Given the description of an element on the screen output the (x, y) to click on. 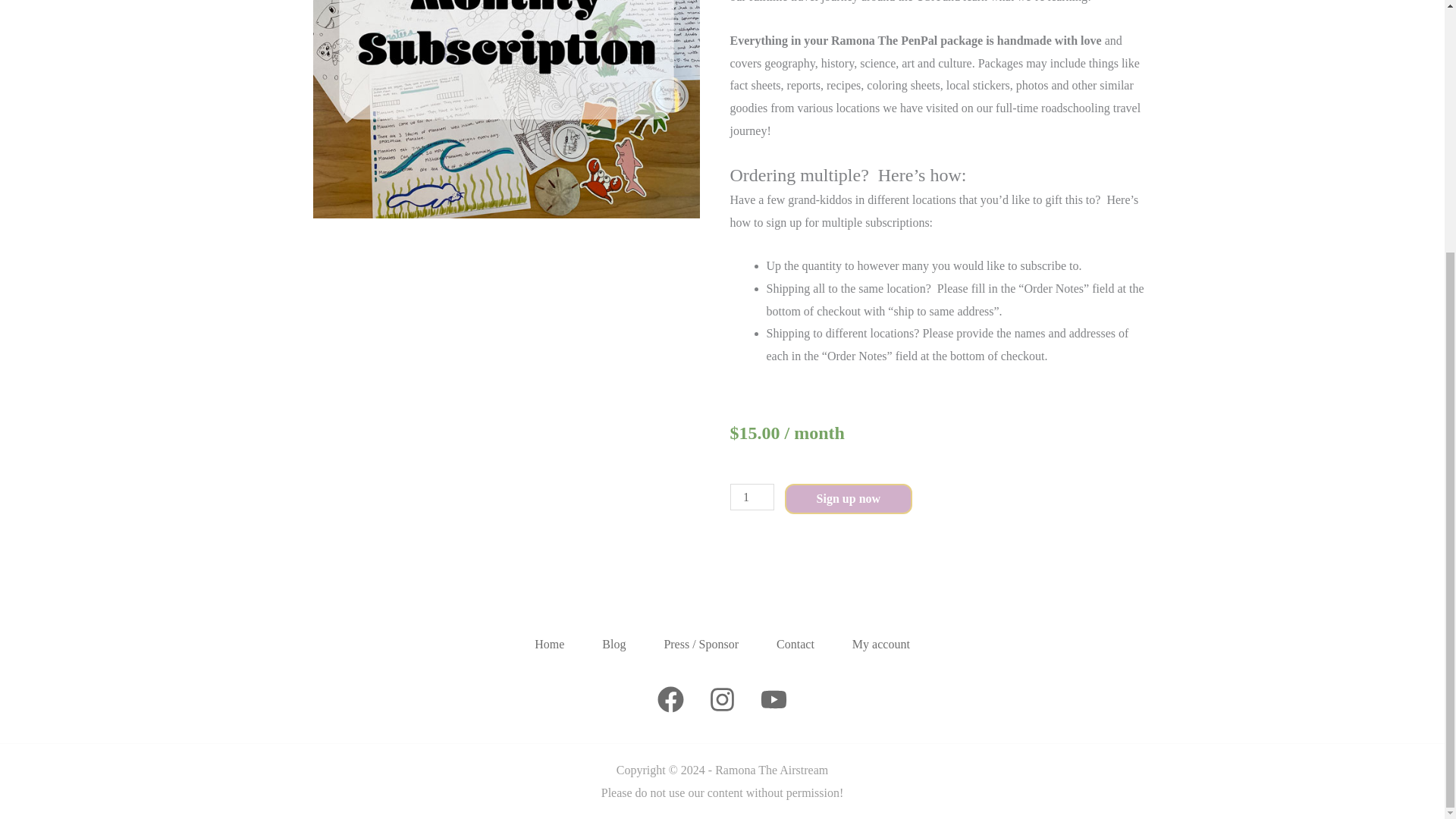
1 (751, 497)
Home (549, 644)
Sign up now (848, 499)
My account (880, 644)
Blog (614, 644)
monthly-ramona-the-penpal-roadschool-package (505, 109)
Contact (794, 644)
